Given the description of an element on the screen output the (x, y) to click on. 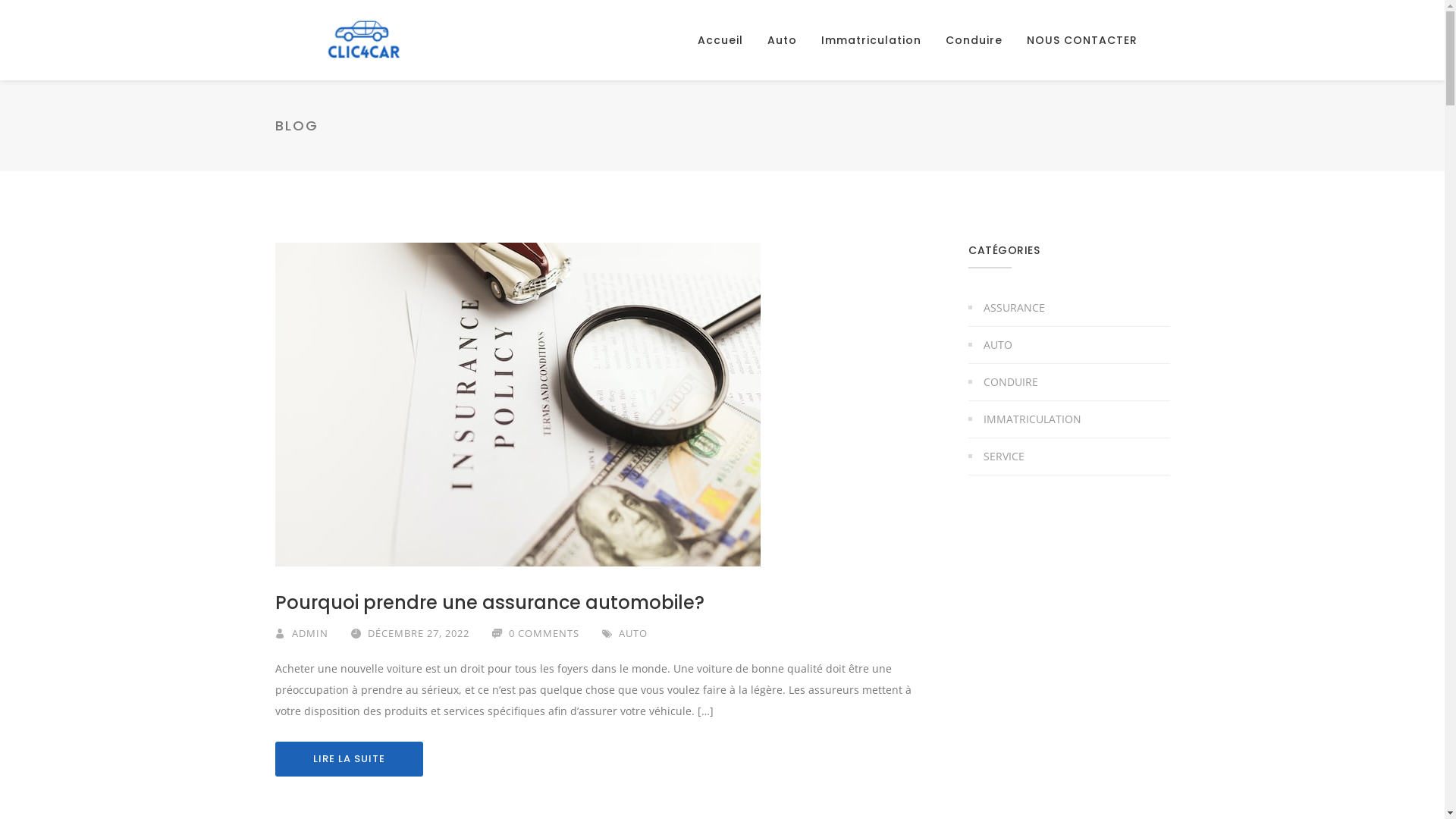
ADMIN Element type: text (309, 633)
LIRE LA SUITE Element type: text (348, 758)
CONDUIRE Element type: text (1003, 381)
AUTO Element type: text (990, 344)
IMMATRICULATION Element type: text (1024, 418)
Conduire Element type: text (972, 40)
Pourquoi prendre une assurance automobile? Element type: text (488, 602)
Immatriculation Element type: text (870, 40)
SERVICE Element type: text (996, 456)
NOUS CONTACTER Element type: text (1081, 40)
ASSURANCE Element type: text (1006, 307)
Accueil Element type: text (720, 40)
Auto Element type: text (782, 40)
AUTO Element type: text (632, 633)
